Given the description of an element on the screen output the (x, y) to click on. 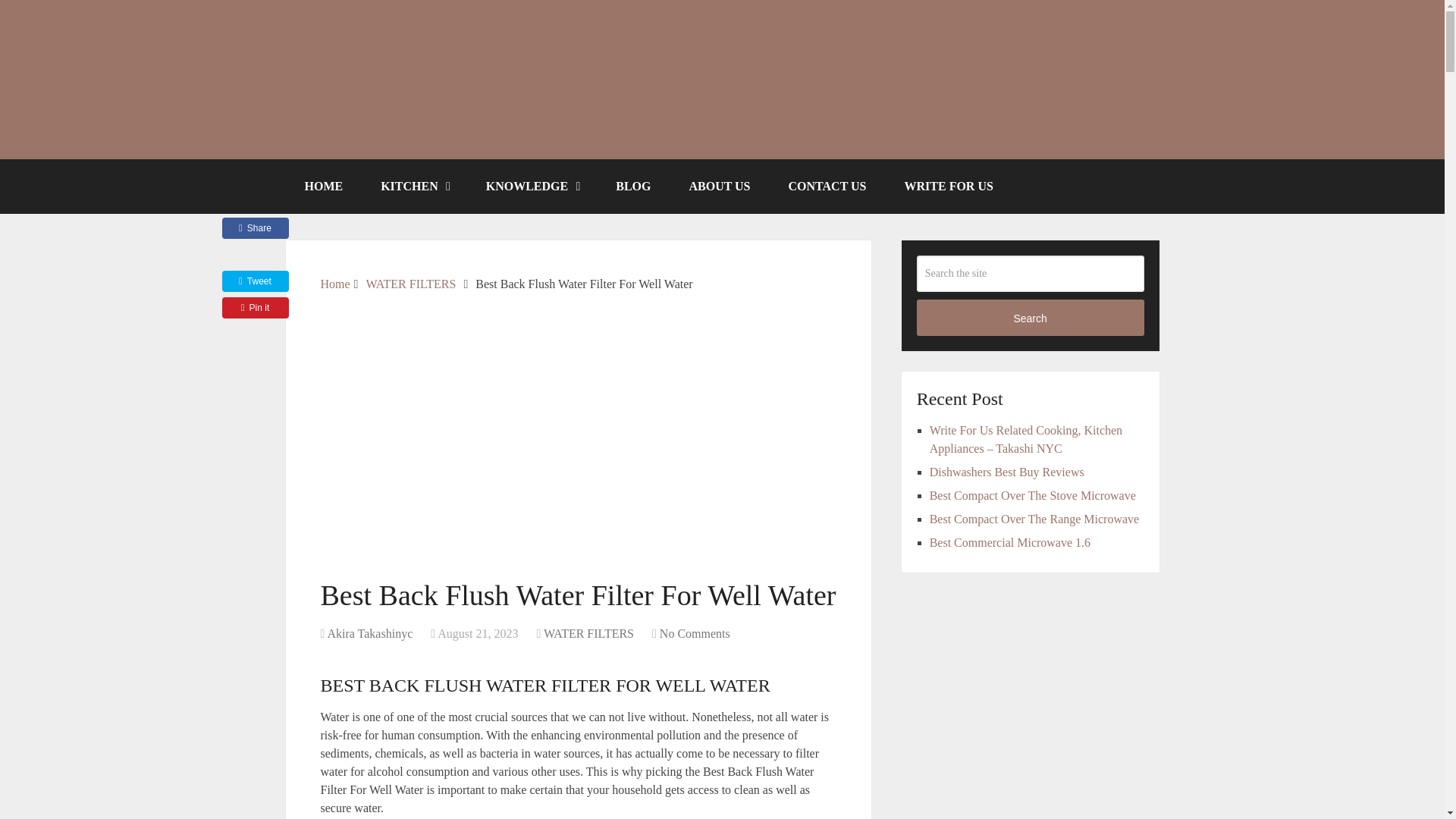
Akira Takashinyc (369, 633)
WATER FILTERS (410, 283)
KITCHEN (414, 185)
CONTACT US (827, 185)
KNOWLEDGE (531, 185)
No Comments (694, 633)
HOME (323, 185)
View all posts in WATER FILTERS (588, 633)
Home (334, 283)
BLOG (632, 185)
WATER FILTERS (588, 633)
WRITE FOR US (948, 185)
Posts by Akira Takashinyc (369, 633)
ABOUT US (718, 185)
